Given the description of an element on the screen output the (x, y) to click on. 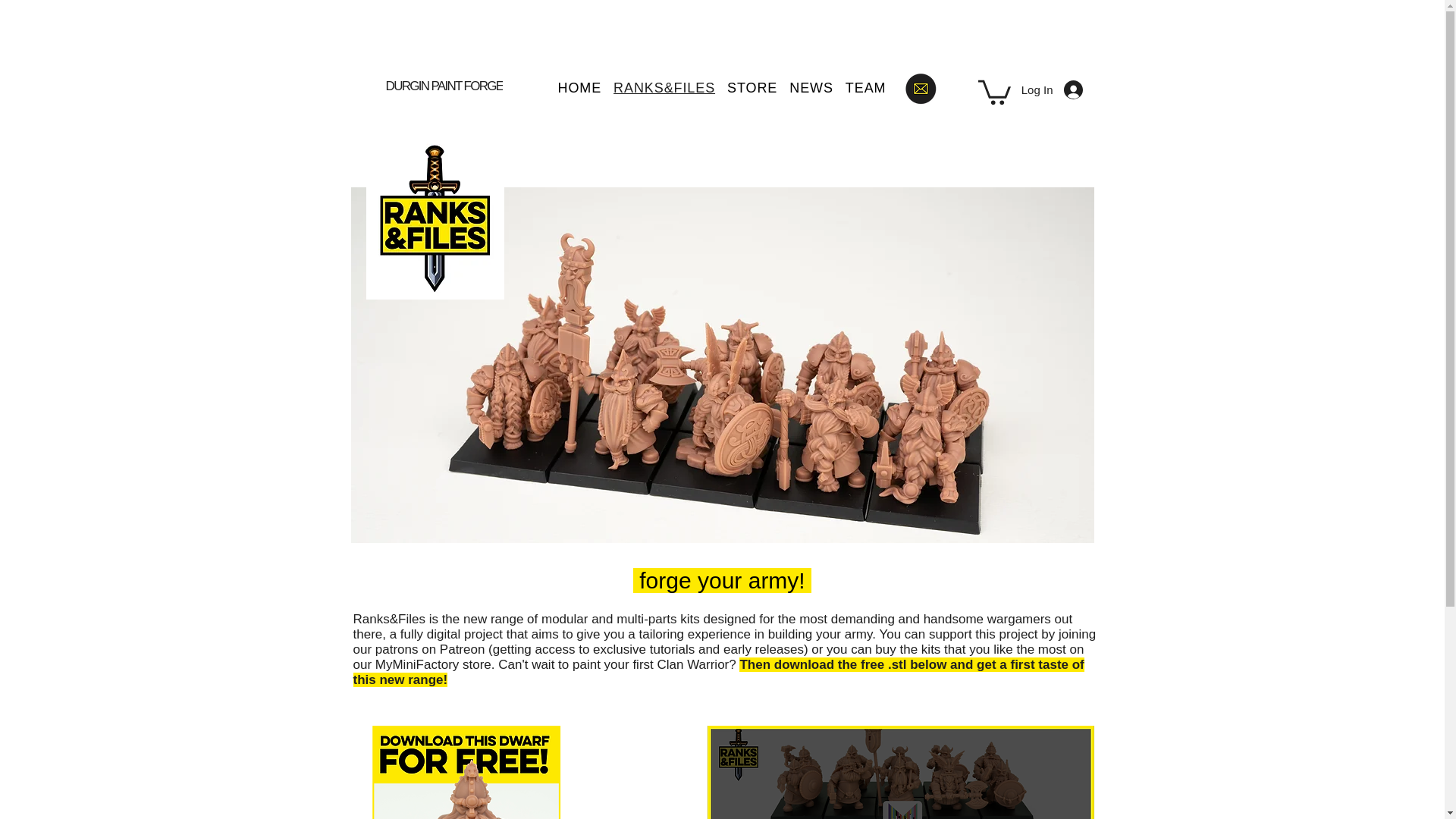
Click to download your first Clan Warrior! (464, 768)
HOME (579, 88)
STORE (751, 88)
TEAM (866, 88)
Contact us! (920, 88)
Click to download your first Clan Warrior! (464, 768)
DURGIN PAINT FORGE (445, 86)
NEWS (810, 88)
Log In (1055, 90)
